Given the description of an element on the screen output the (x, y) to click on. 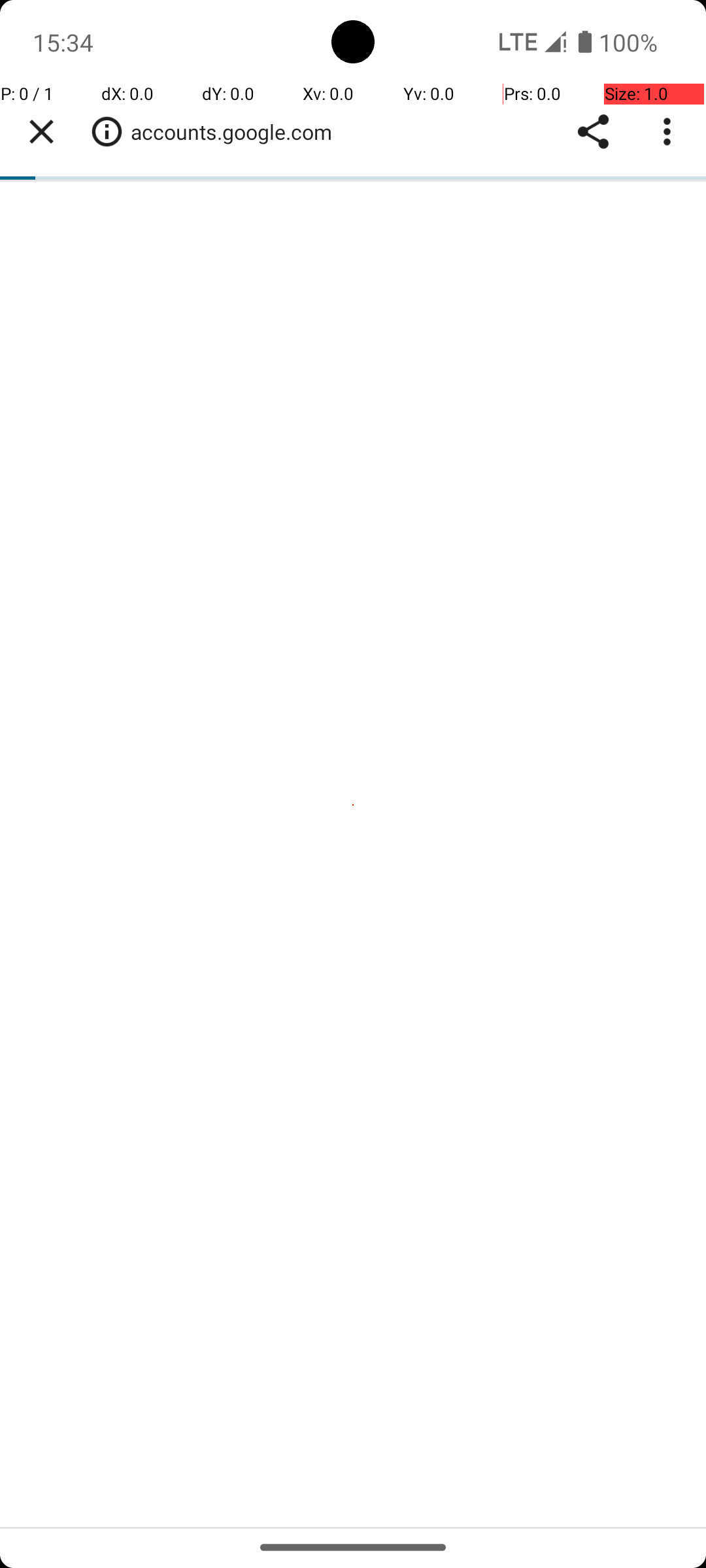
accounts.google.com Element type: android.widget.TextView (237, 131)
